Given the description of an element on the screen output the (x, y) to click on. 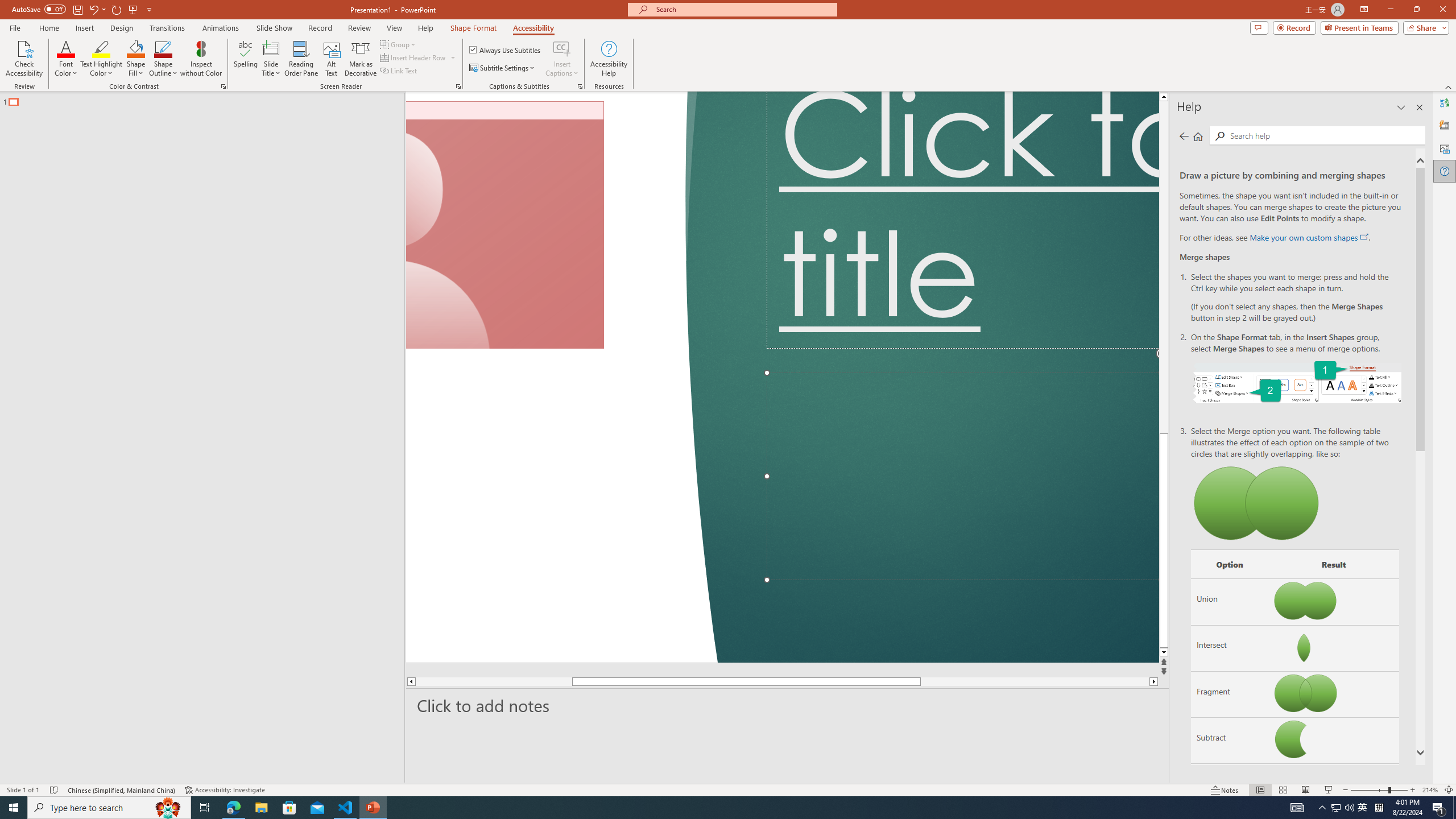
Mark as Decorative (360, 58)
Subtract (1229, 740)
Link Text (399, 69)
